Given the description of an element on the screen output the (x, y) to click on. 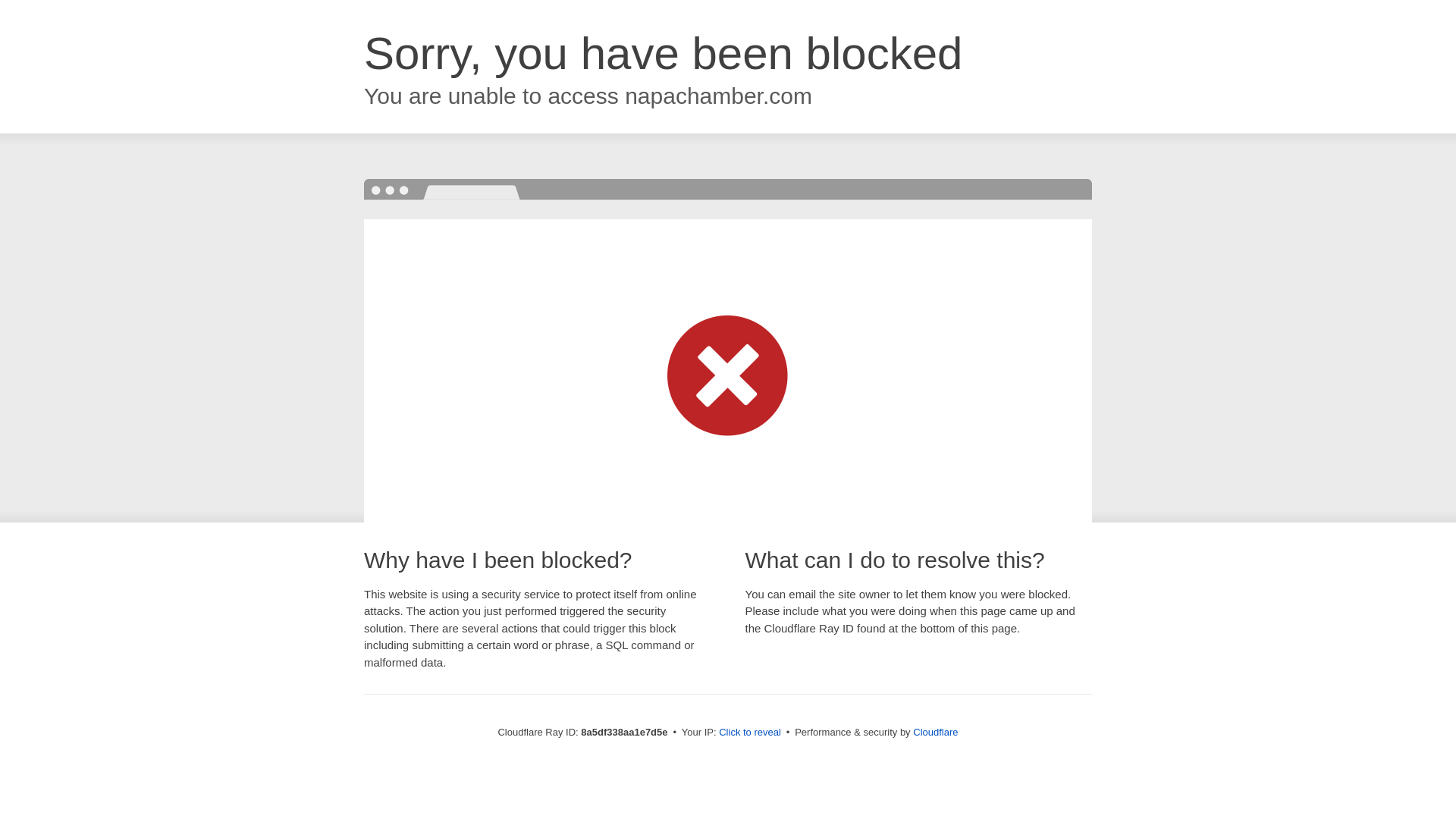
Cloudflare (935, 731)
Click to reveal (749, 732)
